Given the description of an element on the screen output the (x, y) to click on. 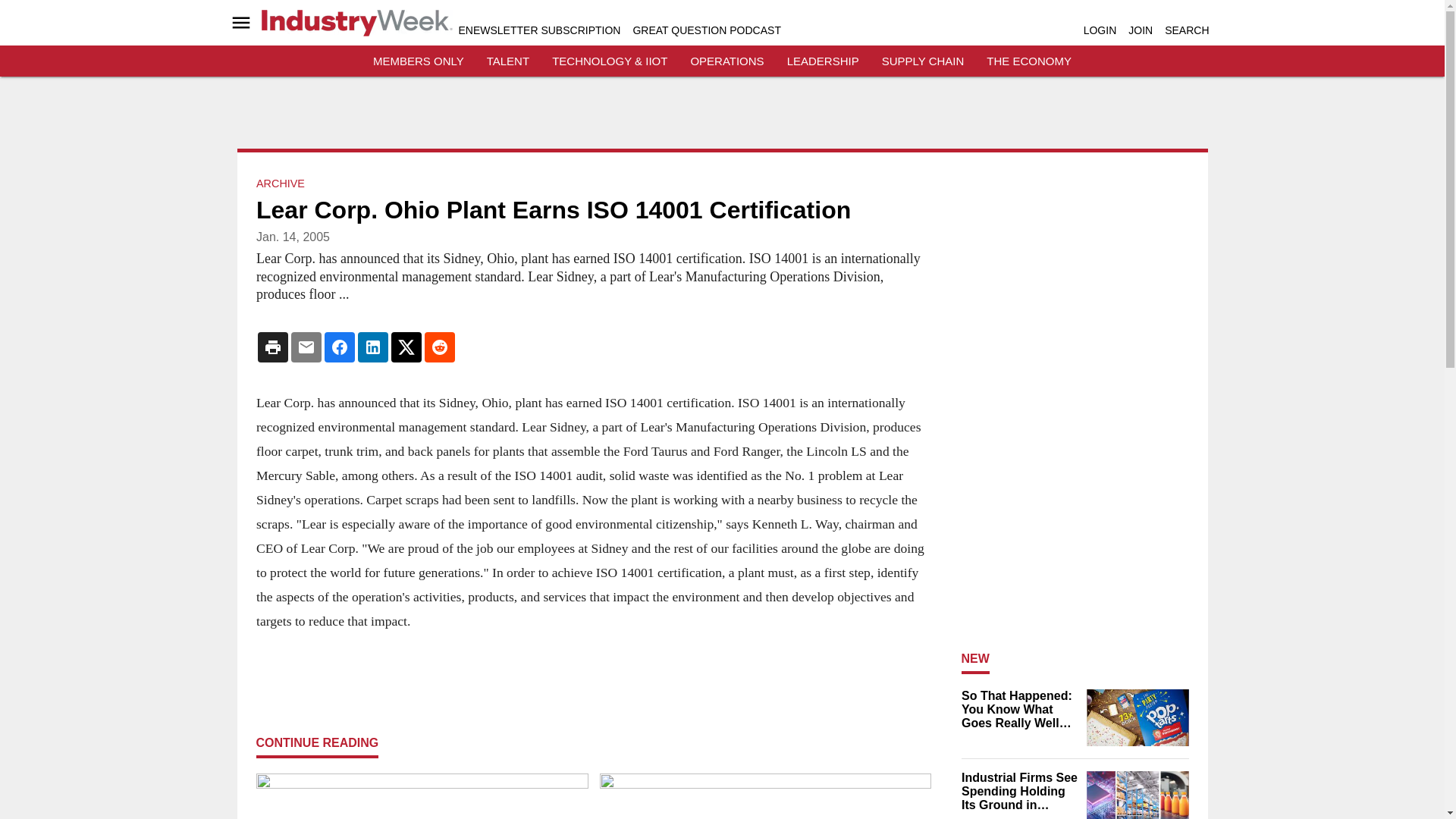
THE ECONOMY (1029, 60)
JOIN (1140, 30)
TALENT (507, 60)
LEADERSHIP (823, 60)
ARCHIVE (280, 183)
LOGIN (1099, 30)
GREAT QUESTION PODCAST (705, 30)
OPERATIONS (726, 60)
MEMBERS ONLY (418, 60)
ENEWSLETTER SUBSCRIPTION (539, 30)
